Given the description of an element on the screen output the (x, y) to click on. 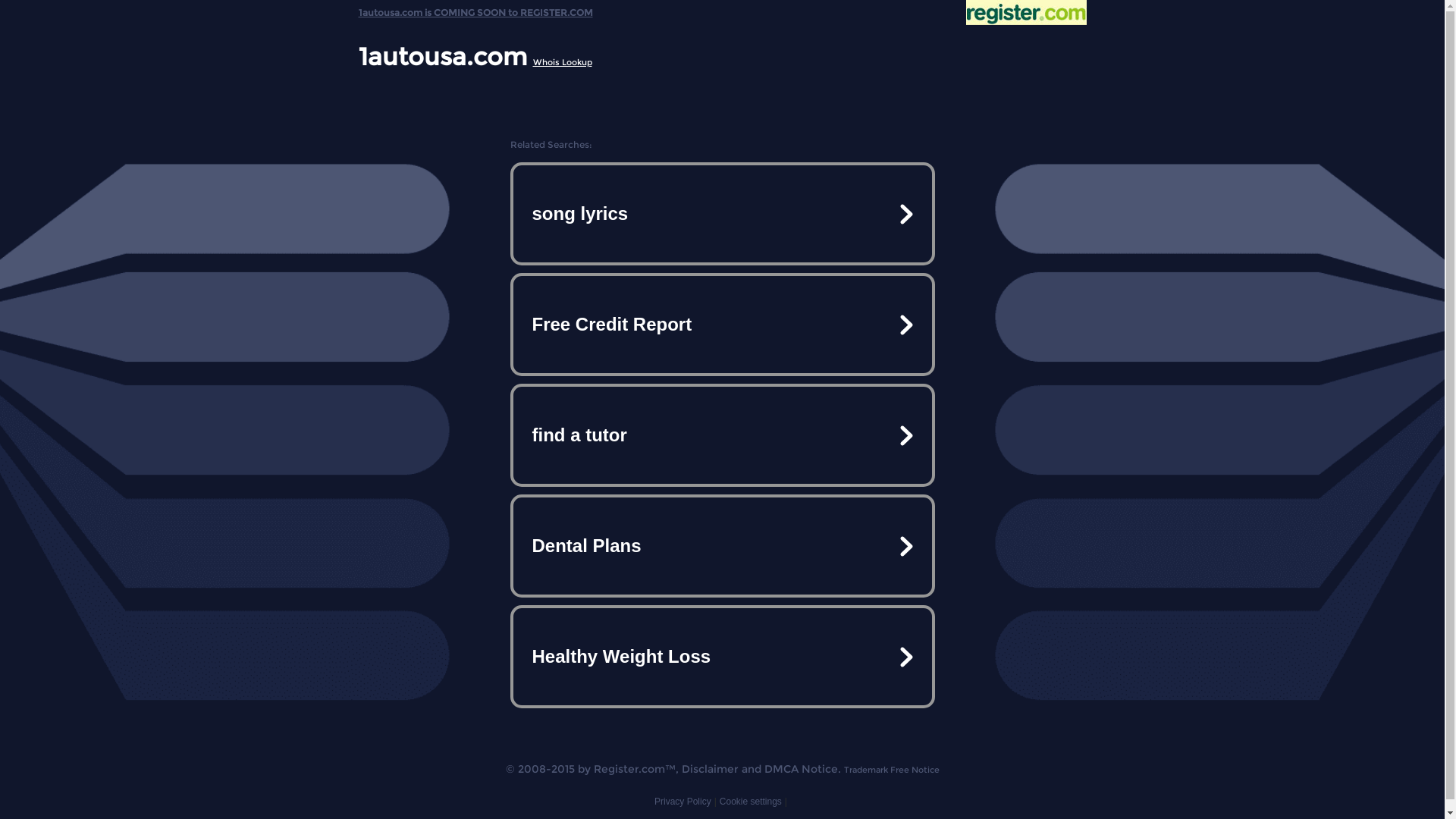
Dental Plans Element type: text (721, 545)
Free Credit Report Element type: text (721, 324)
song lyrics Element type: text (721, 213)
1autousa.com is COMING SOON to REGISTER.COM Element type: text (474, 9)
Privacy Policy Element type: text (682, 801)
find a tutor Element type: text (721, 434)
Healthy Weight Loss Element type: text (721, 656)
1autousa.com Element type: text (441, 56)
Trademark Free Notice Element type: text (890, 769)
Cookie settings Element type: text (750, 801)
Whois Lookup Element type: text (561, 61)
